Given the description of an element on the screen output the (x, y) to click on. 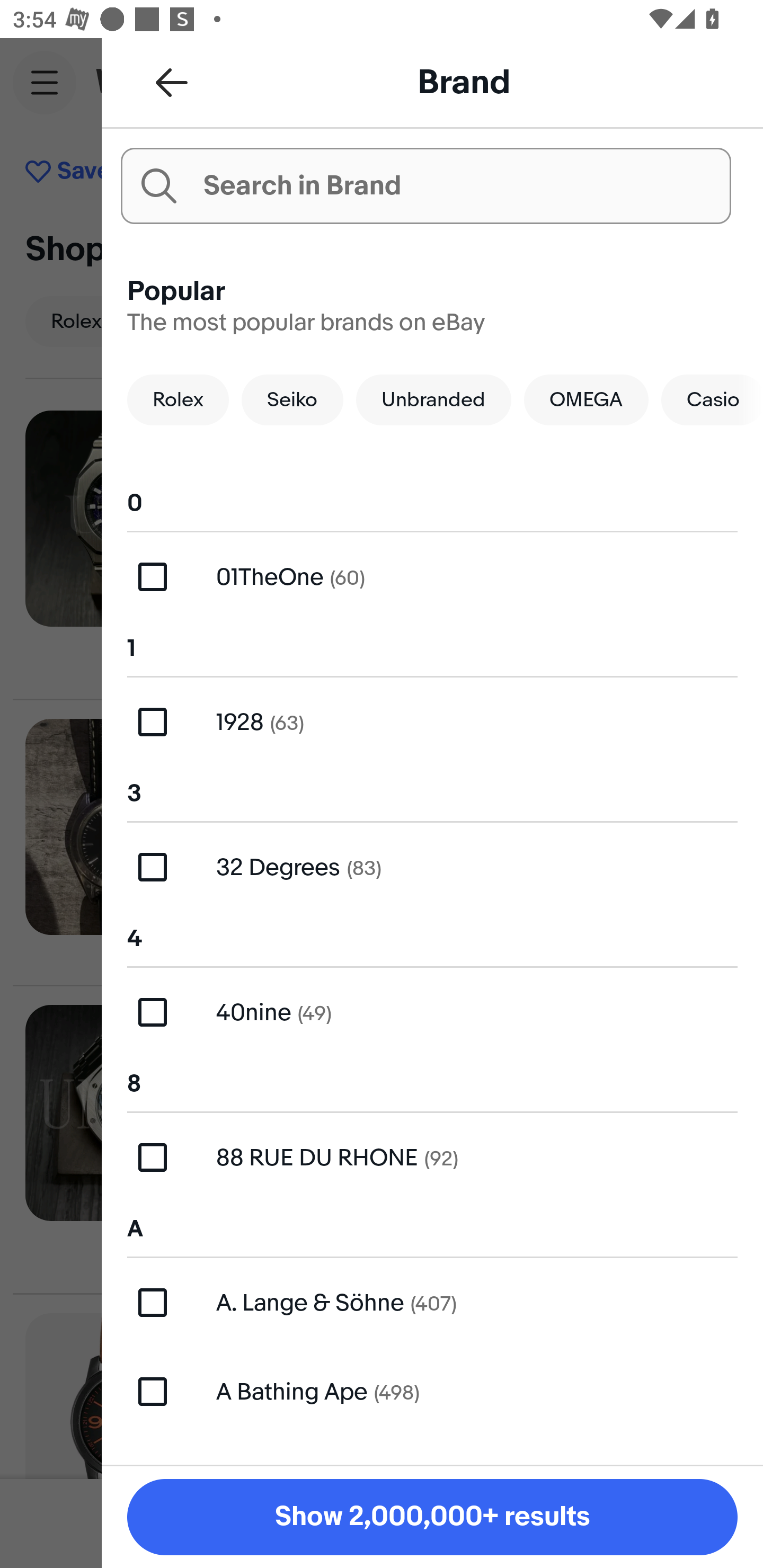
Back to all refinements (171, 81)
Search in Brand (425, 185)
Rolex (177, 399)
Seiko (292, 399)
Unbranded (433, 399)
OMEGA (586, 399)
Casio (712, 399)
01TheOne (60) (432, 576)
1928 (63) (432, 721)
32 Degrees (83) (432, 867)
40nine (49) (432, 1011)
88 RUE DU RHONE (92) (432, 1157)
A. Lange & Söhne (407) (432, 1301)
A Bathing Ape (498) (432, 1391)
Show 2,000,000+ results (432, 1516)
